Given the description of an element on the screen output the (x, y) to click on. 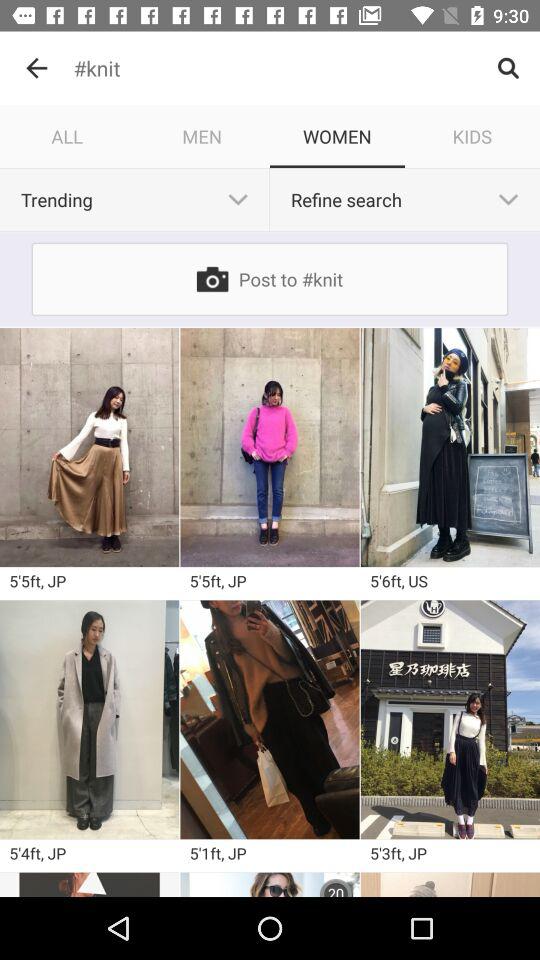
turn off item next to women icon (472, 136)
